Given the description of an element on the screen output the (x, y) to click on. 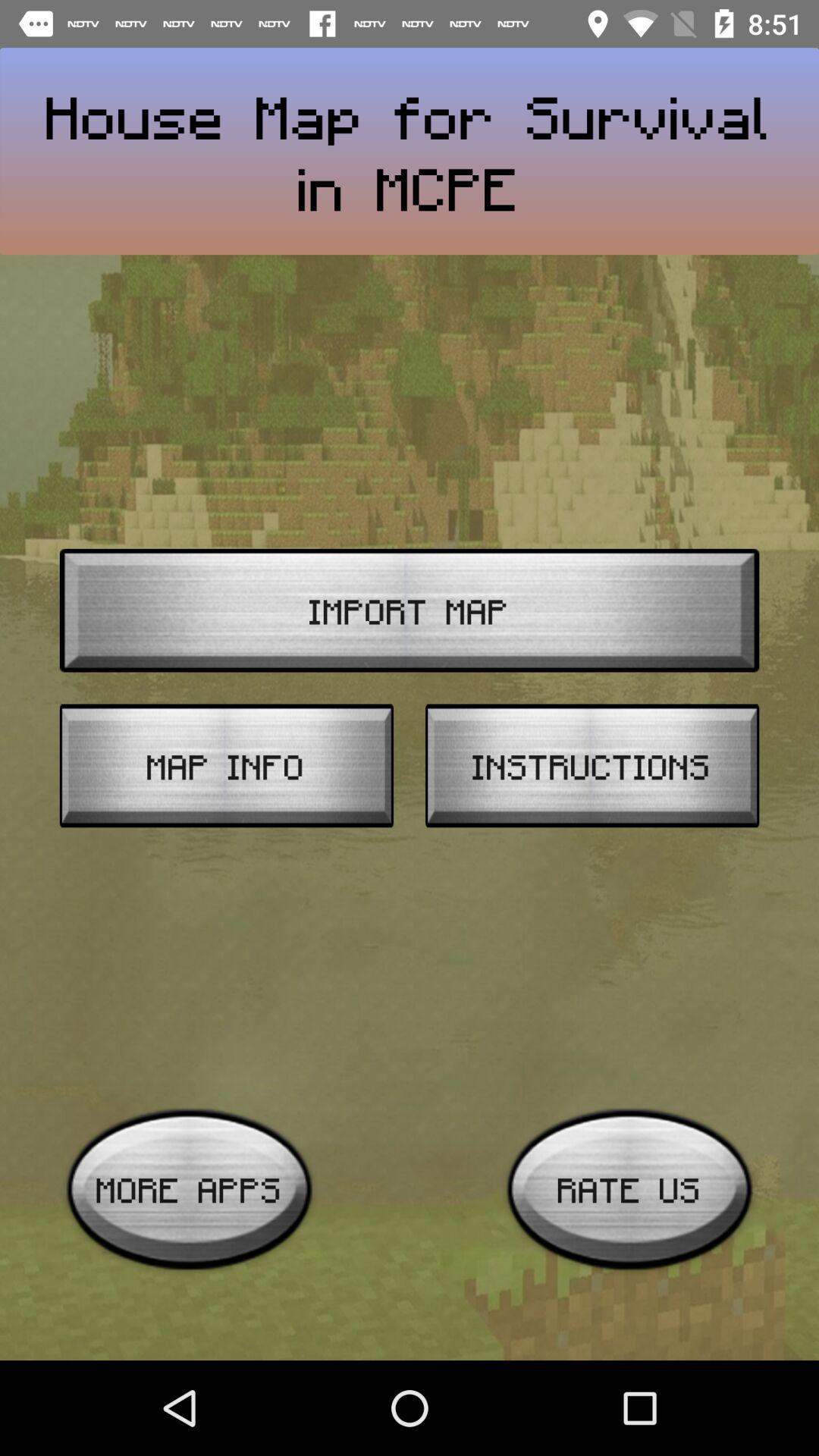
tap map info icon (226, 765)
